Given the description of an element on the screen output the (x, y) to click on. 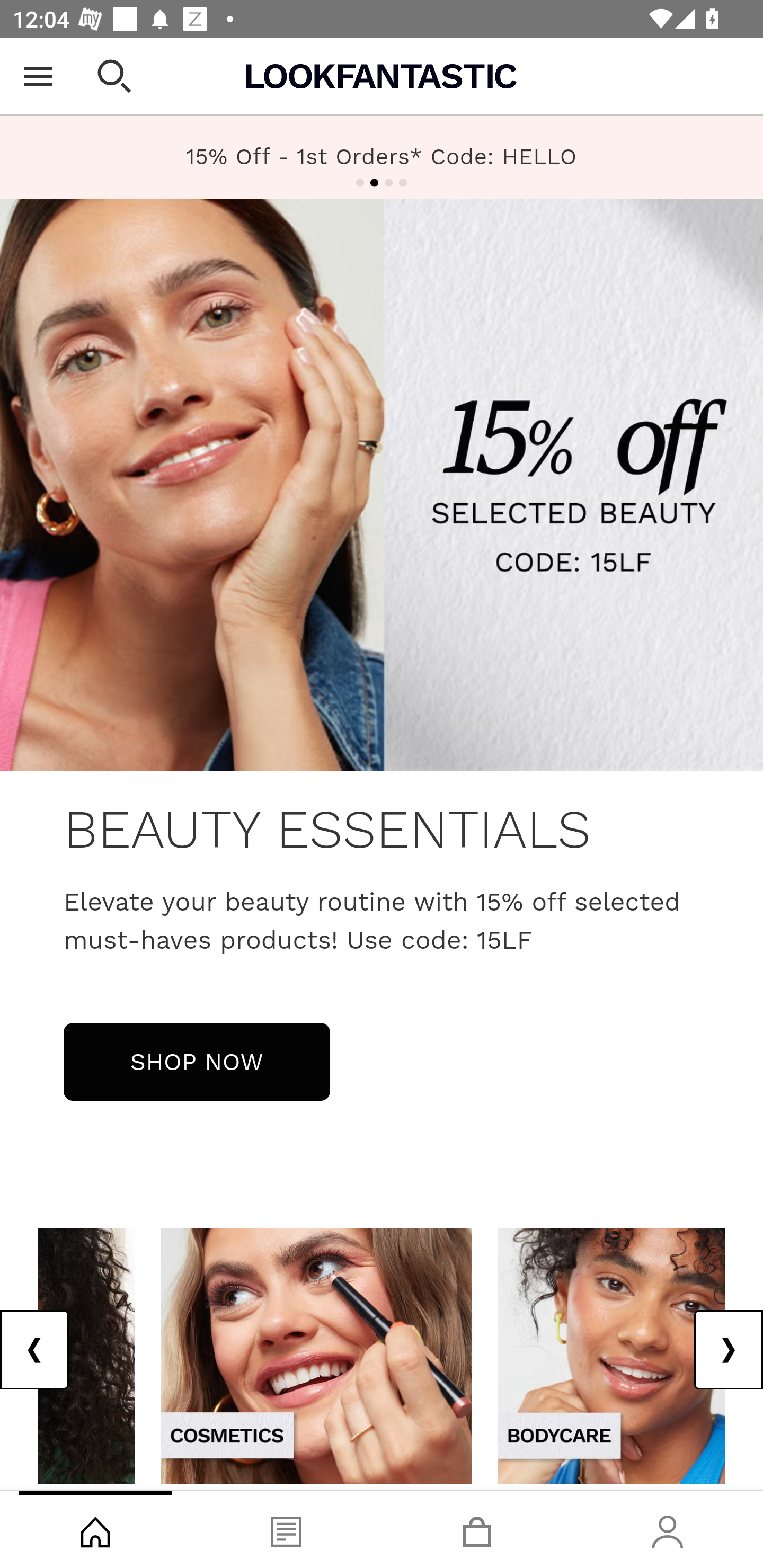
Open Menu (38, 75)
Open search (114, 75)
Lookfantastic USA (381, 75)
SHOP NOW (196, 1061)
view-all (316, 1355)
view-all (610, 1355)
Previous (35, 1349)
Next (727, 1349)
Shop, tab, 1 of 4 (95, 1529)
Blog, tab, 2 of 4 (285, 1529)
Basket, tab, 3 of 4 (476, 1529)
Account, tab, 4 of 4 (667, 1529)
